Given the description of an element on the screen output the (x, y) to click on. 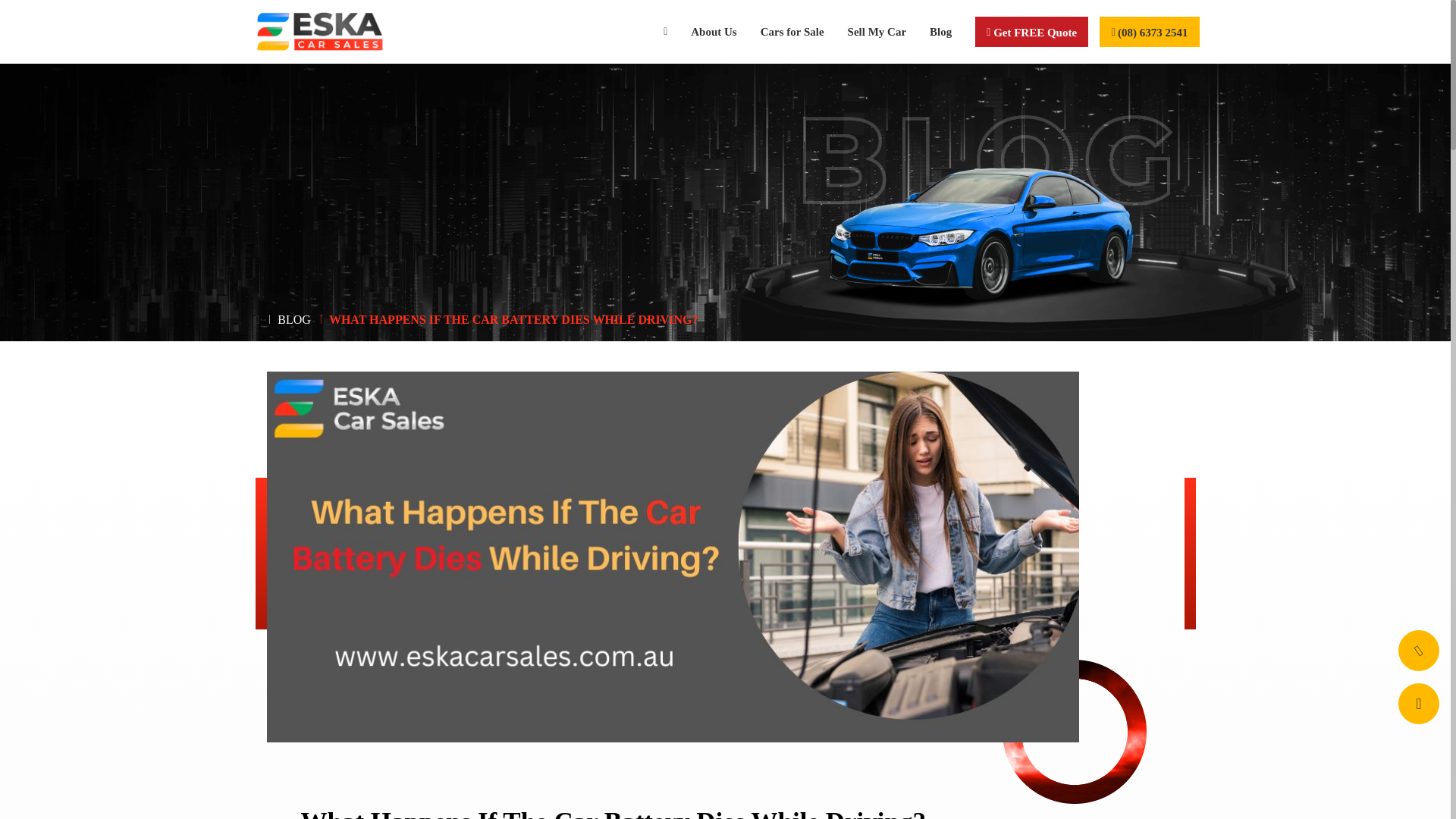
Cars for Sale (792, 31)
BLOG (294, 318)
Blog (940, 31)
About Us (713, 31)
Get FREE Quote (1031, 31)
Sell My Car (876, 31)
WHAT HAPPENS IF THE CAR BATTERY DIES WHILE DRIVING? (513, 318)
